Given the description of an element on the screen output the (x, y) to click on. 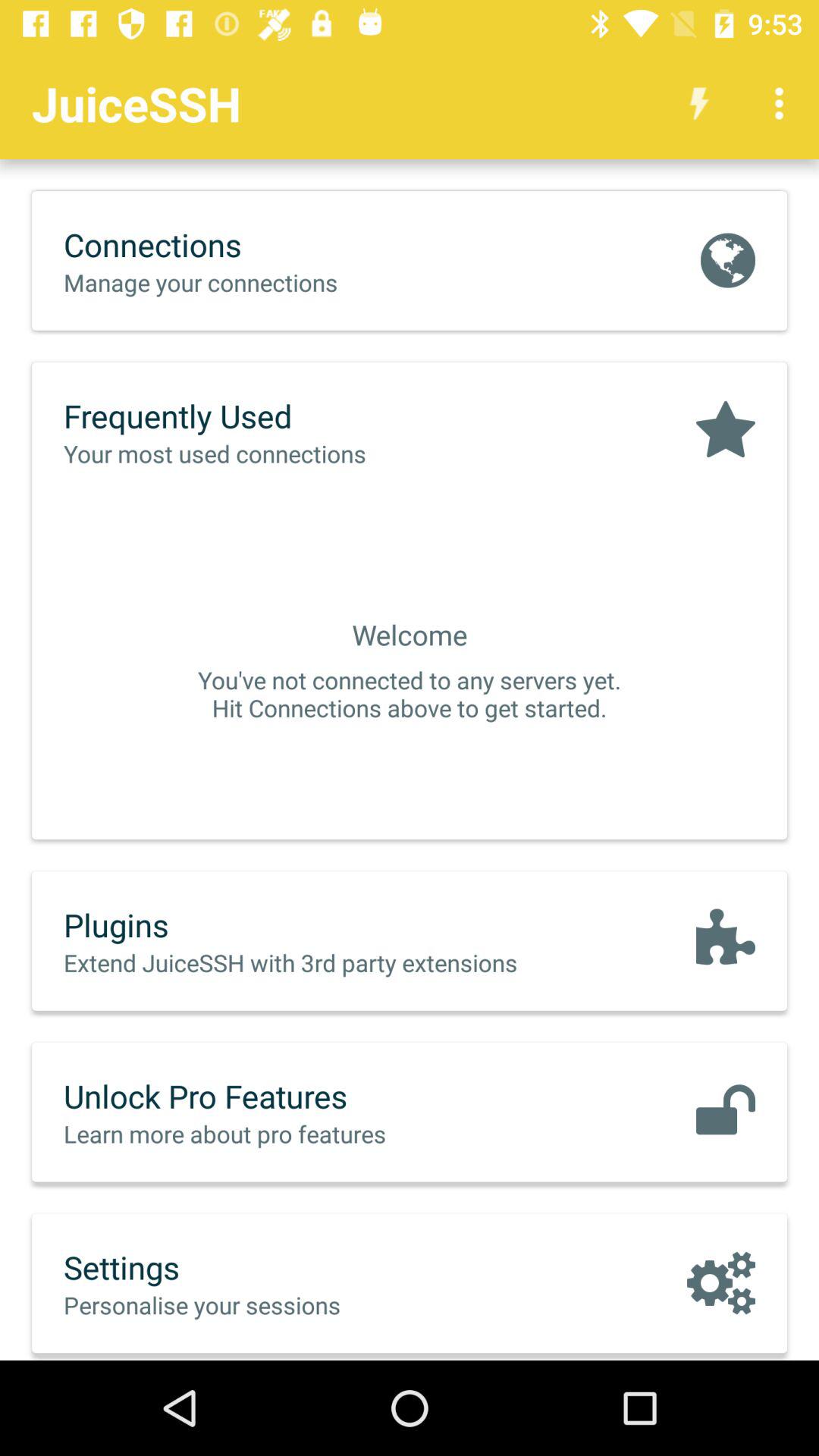
choose the app to the right of juicessh icon (699, 103)
